Given the description of an element on the screen output the (x, y) to click on. 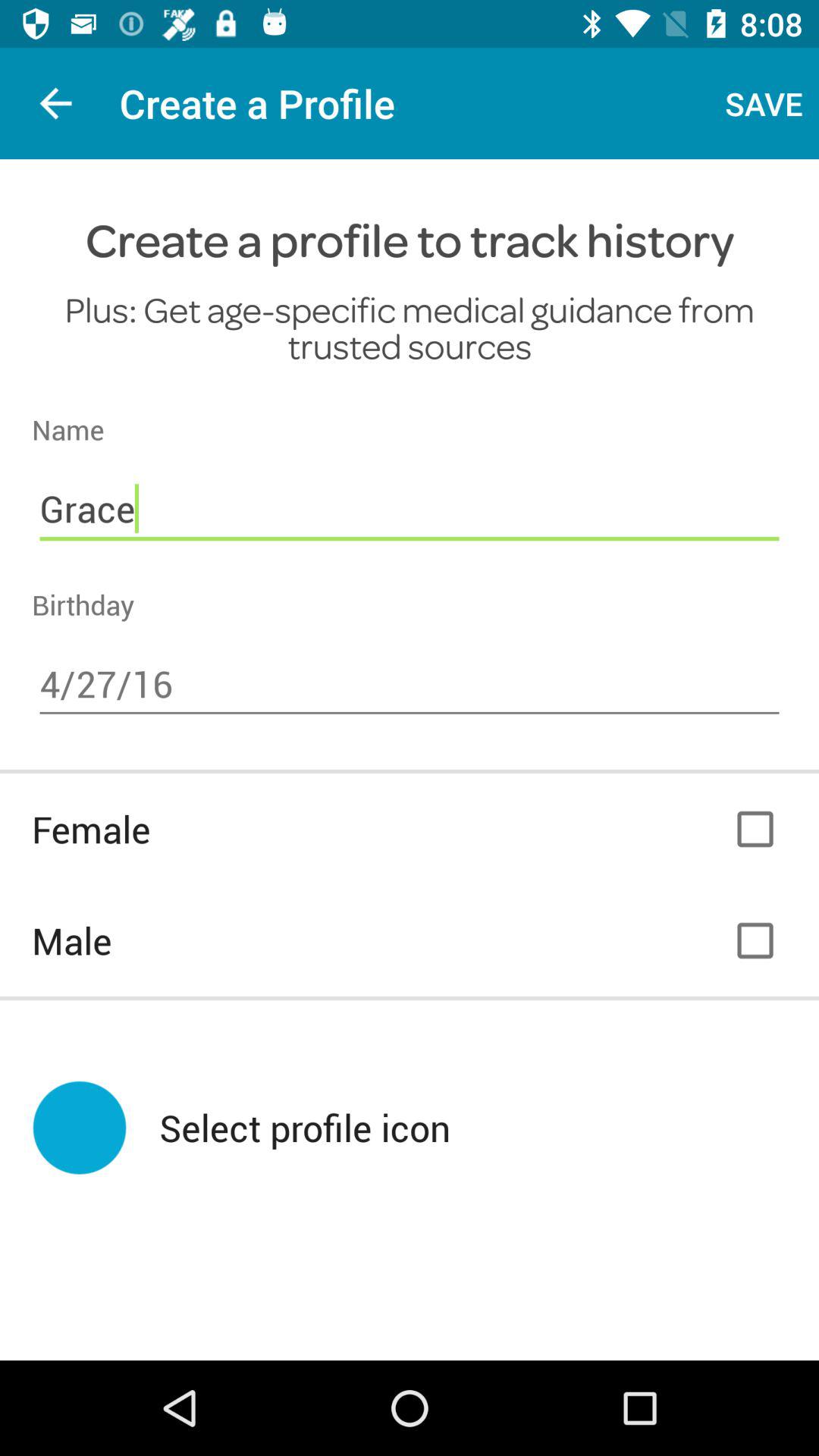
select male (755, 940)
